Given the description of an element on the screen output the (x, y) to click on. 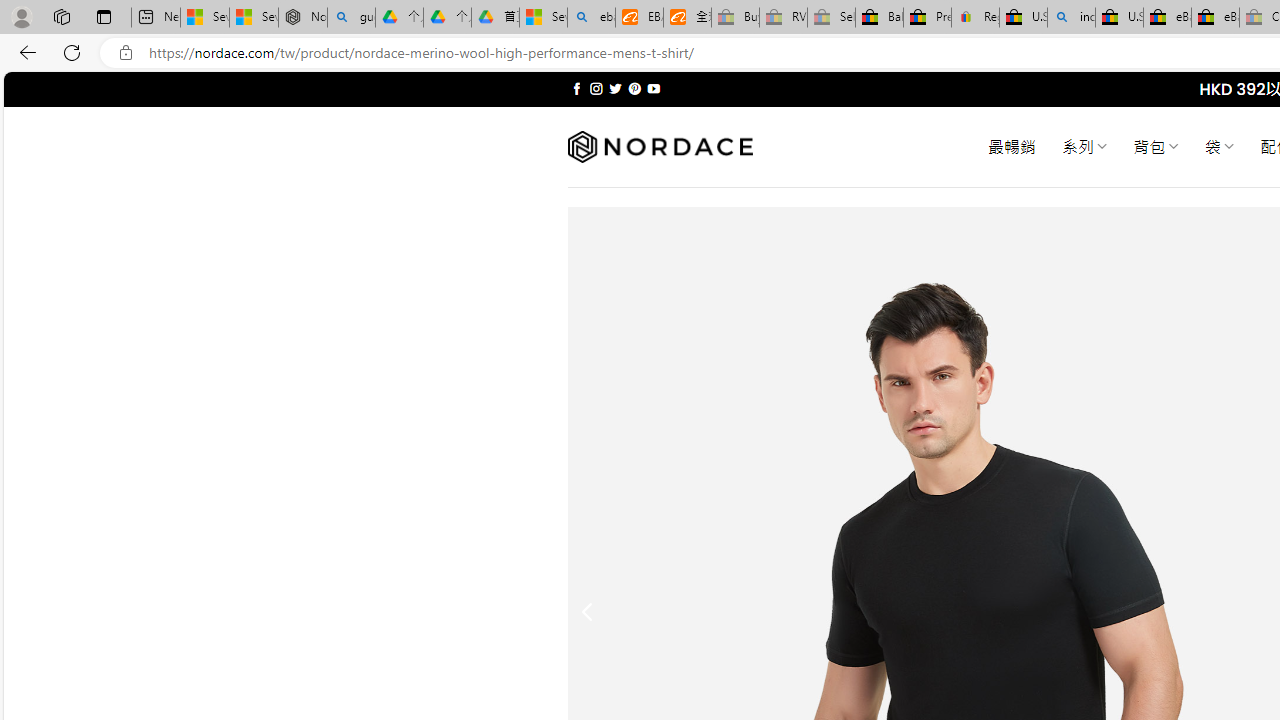
Follow on Pinterest (634, 88)
Follow on Facebook (576, 88)
Register: Create a personal eBay account (975, 17)
Press Room - eBay Inc. (927, 17)
